Given the description of an element on the screen output the (x, y) to click on. 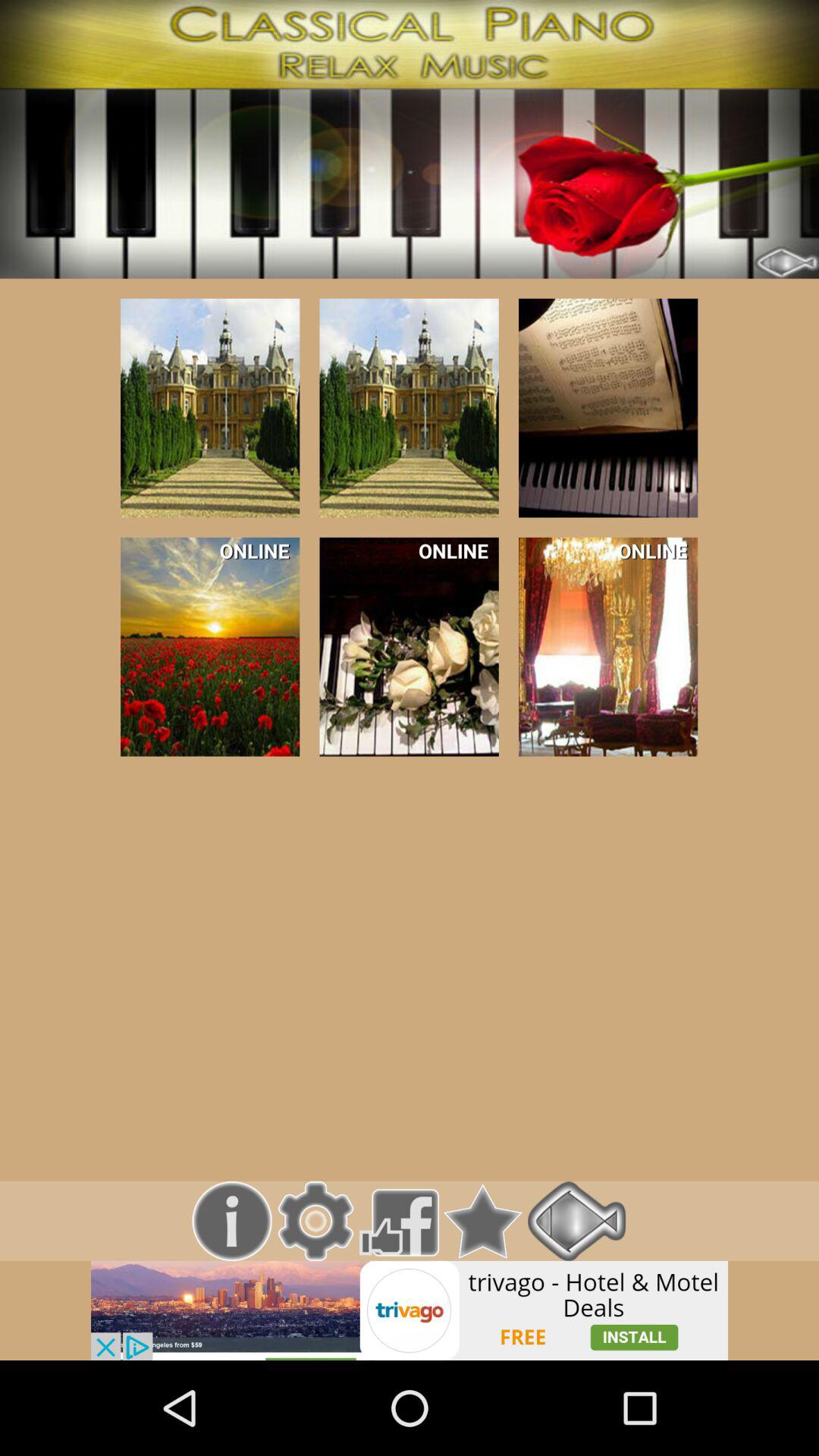
play this music (408, 407)
